Given the description of an element on the screen output the (x, y) to click on. 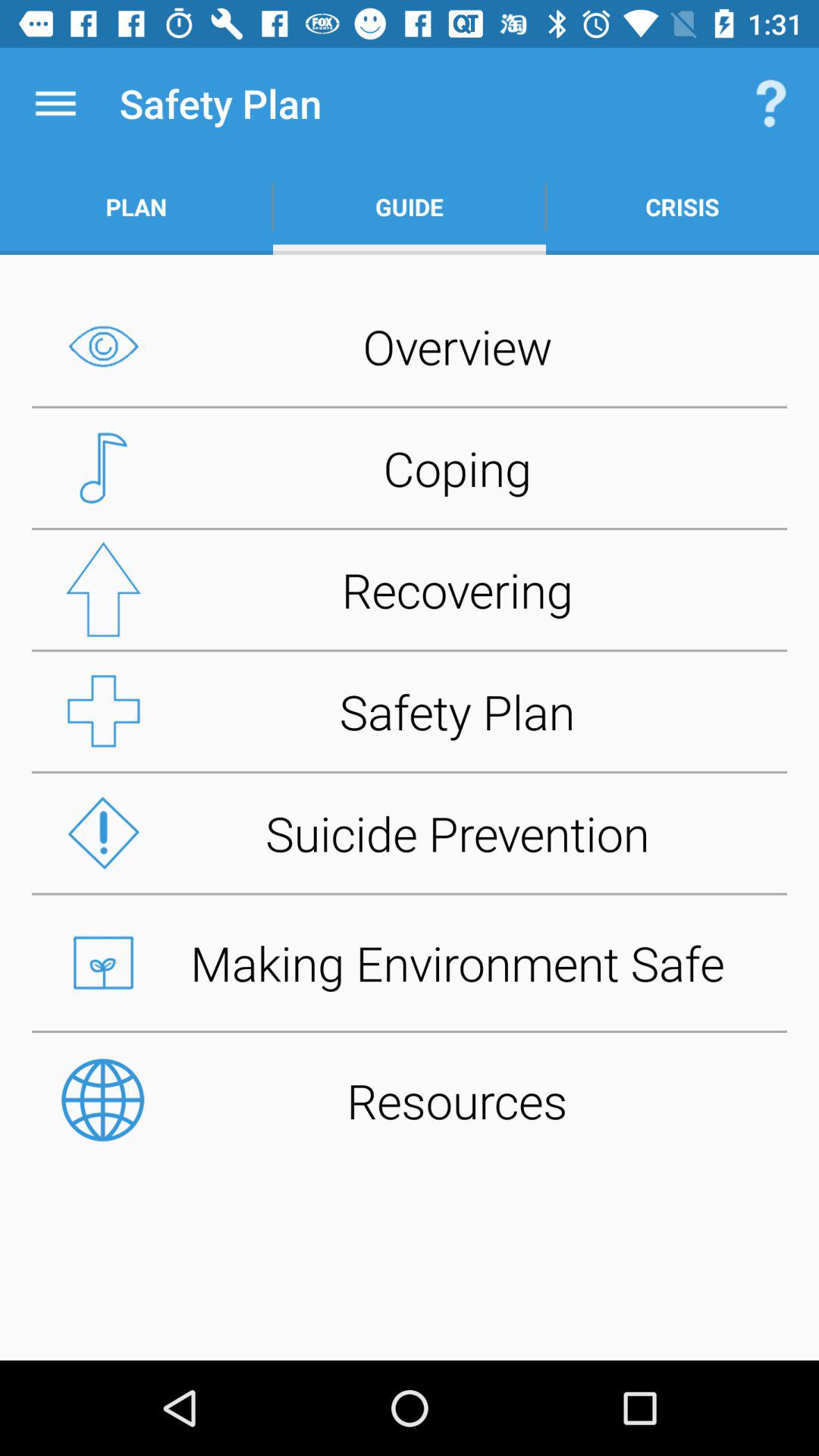
tap icon to the right of guide item (682, 206)
